Given the description of an element on the screen output the (x, y) to click on. 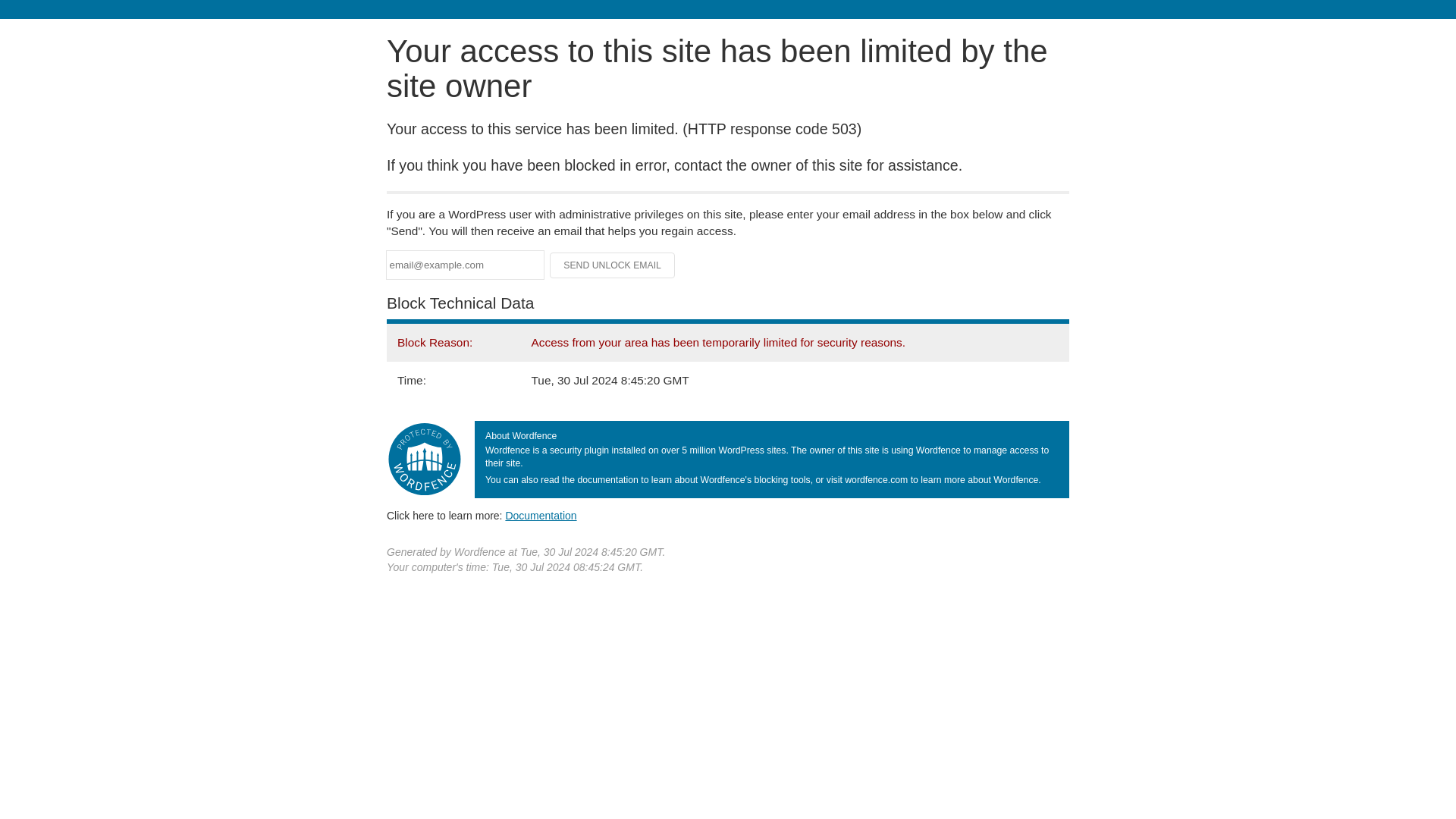
Send Unlock Email (612, 265)
Send Unlock Email (612, 265)
Documentation (540, 515)
